Given the description of an element on the screen output the (x, y) to click on. 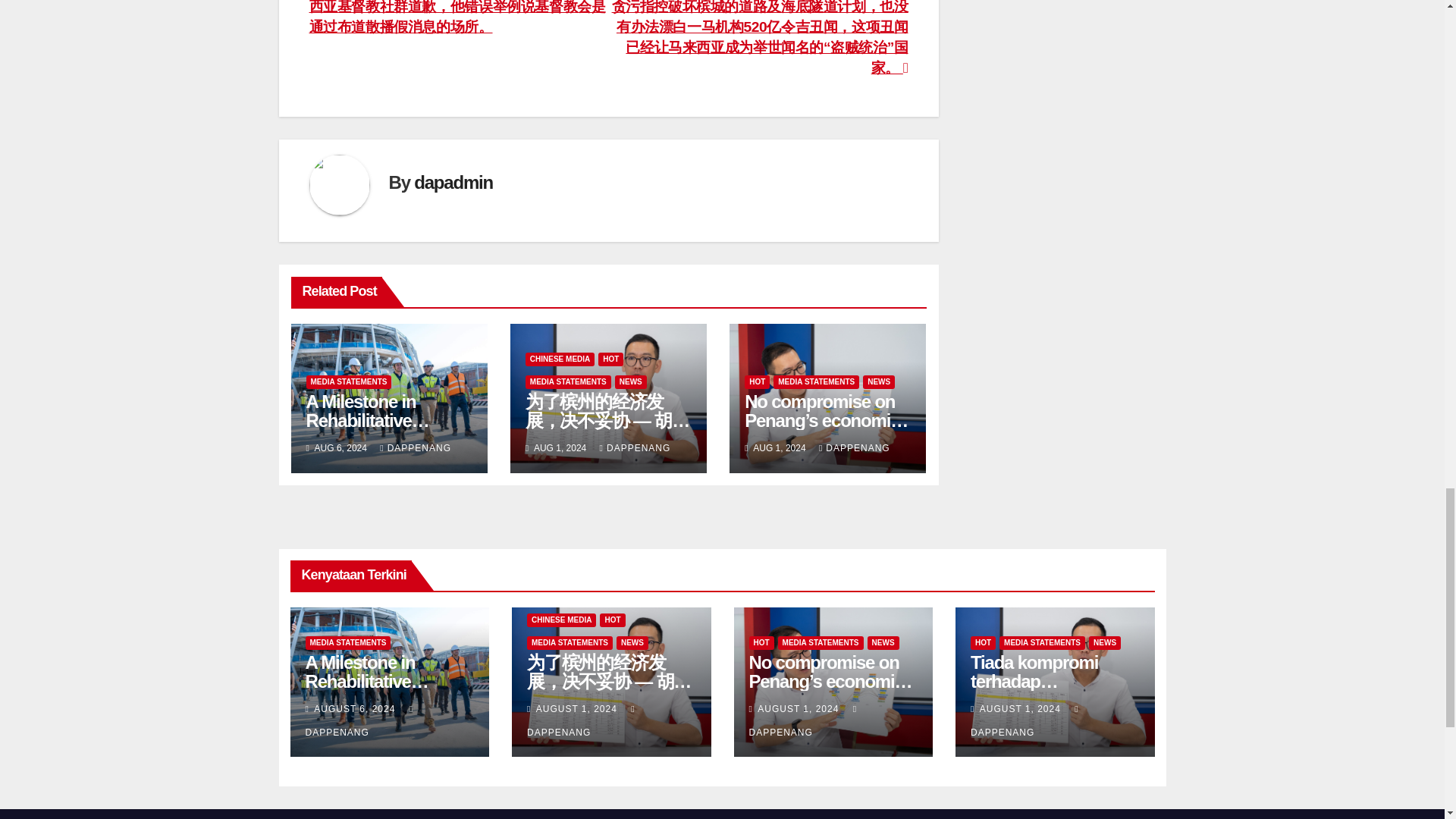
DAPPENANG (635, 448)
MEDIA STATEMENTS (568, 382)
MEDIA STATEMENTS (348, 382)
A Milestone in Rehabilitative Medicine with Global Impact (386, 429)
HOT (610, 359)
CHINESE MEDIA (559, 359)
NEWS (630, 382)
